Given the description of an element on the screen output the (x, y) to click on. 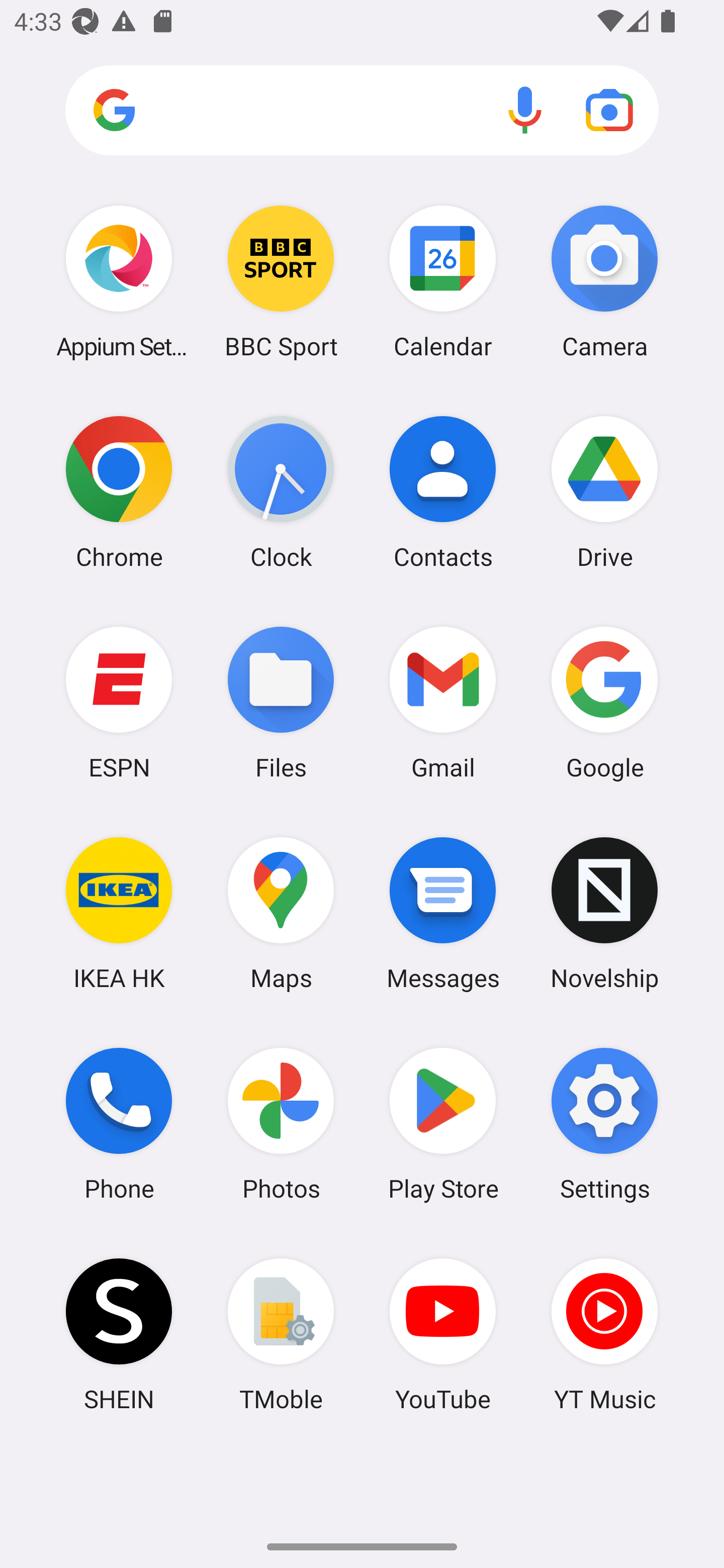
Search apps, web and more (361, 110)
Voice search (524, 109)
Google Lens (608, 109)
Appium Settings (118, 281)
BBC Sport (280, 281)
Calendar (443, 281)
Camera (604, 281)
Chrome (118, 492)
Clock (280, 492)
Contacts (443, 492)
Drive (604, 492)
ESPN (118, 702)
Files (280, 702)
Gmail (443, 702)
Google (604, 702)
IKEA HK (118, 913)
Maps (280, 913)
Messages (443, 913)
Novelship (604, 913)
Phone (118, 1124)
Photos (280, 1124)
Play Store (443, 1124)
Settings (604, 1124)
SHEIN (118, 1334)
TMoble (280, 1334)
YouTube (443, 1334)
YT Music (604, 1334)
